Given the description of an element on the screen output the (x, y) to click on. 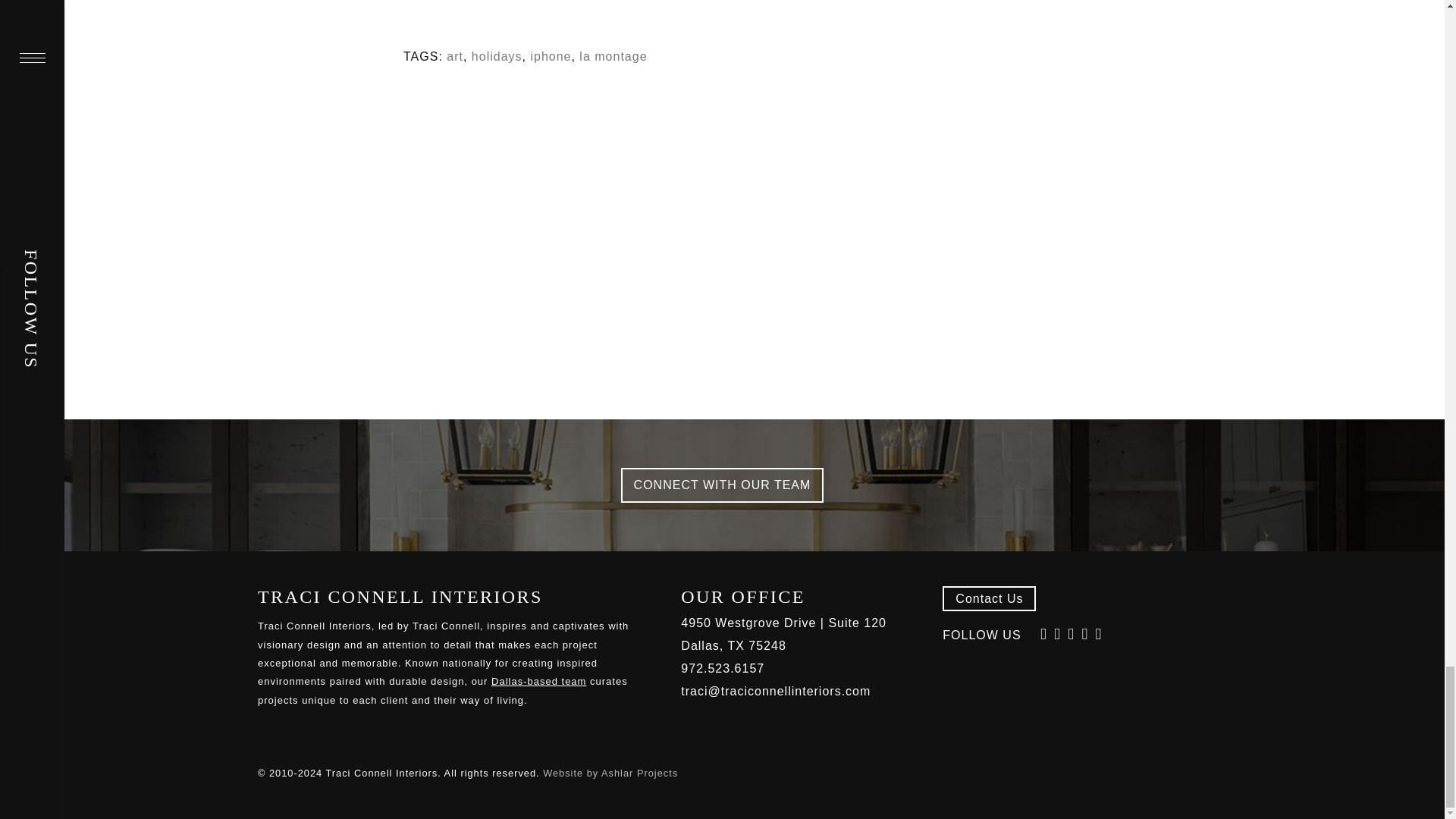
art (454, 56)
iphone (549, 56)
holidays (496, 56)
la montage (612, 56)
